Given the description of an element on the screen output the (x, y) to click on. 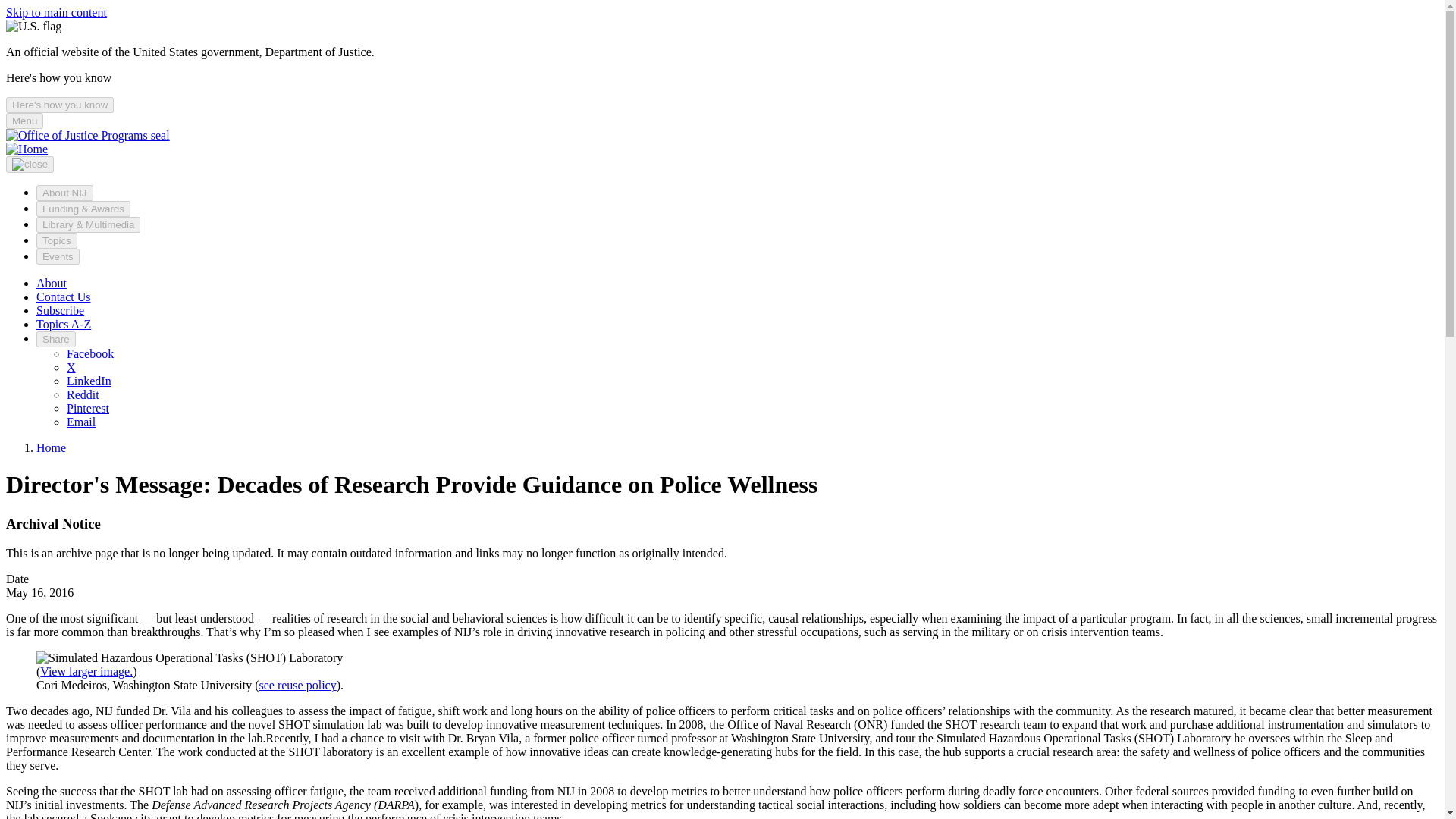
Subscribe (60, 309)
Share (55, 339)
Share on Pinterest (87, 408)
Email (81, 421)
About NIJ (64, 192)
Here's how you know (59, 105)
Topics A-Z (63, 323)
Share on Email (81, 421)
Pinterest (87, 408)
LinkedIn (89, 380)
Home (26, 148)
Contact Us (63, 296)
Share on Reddit (82, 394)
see reuse policy (297, 684)
Topics (56, 240)
